Given the description of an element on the screen output the (x, y) to click on. 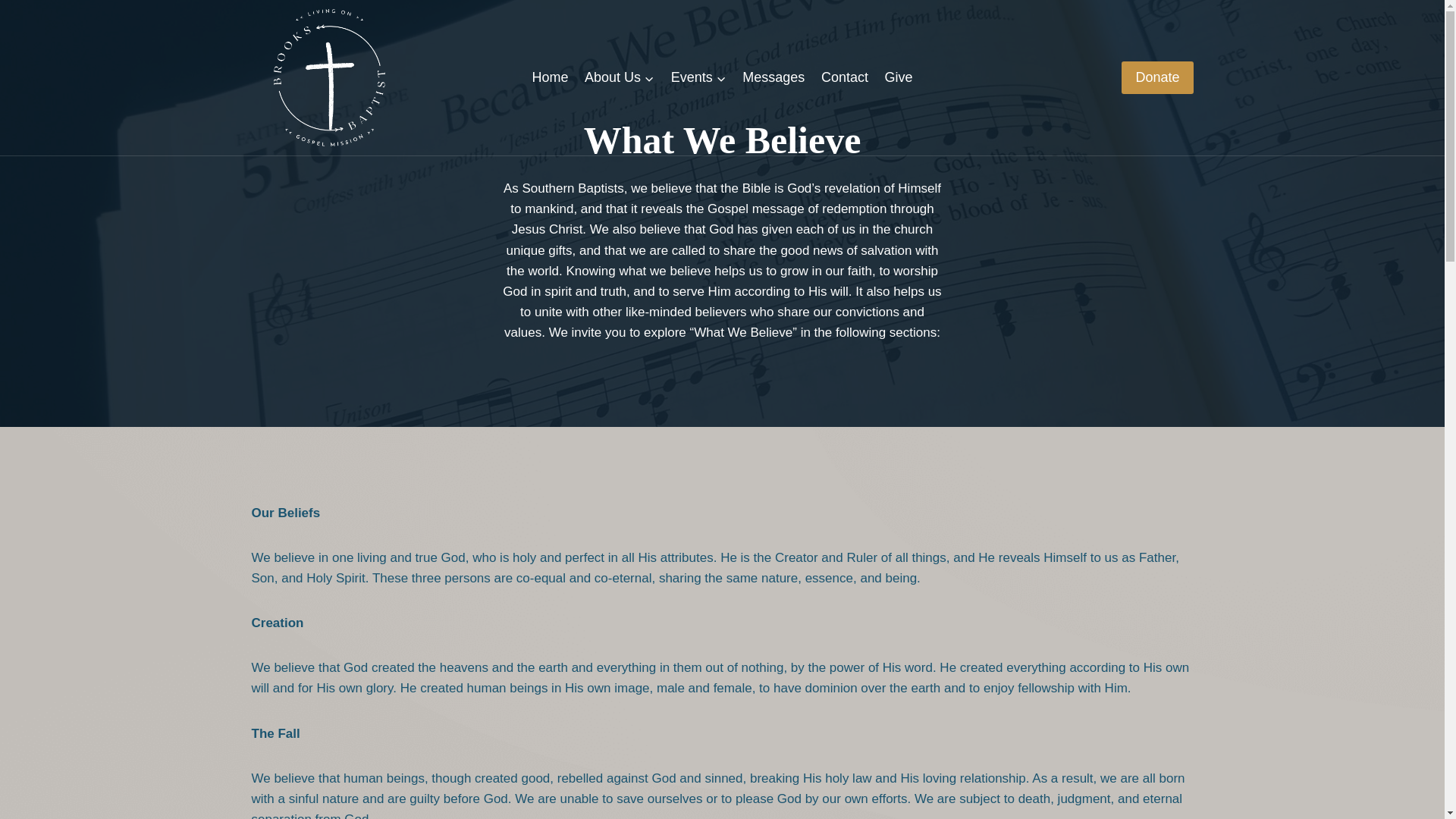
About Us (619, 77)
Contact (844, 77)
Events (698, 77)
Home (550, 77)
Donate (1156, 77)
Messages (772, 77)
Give (898, 77)
